Given the description of an element on the screen output the (x, y) to click on. 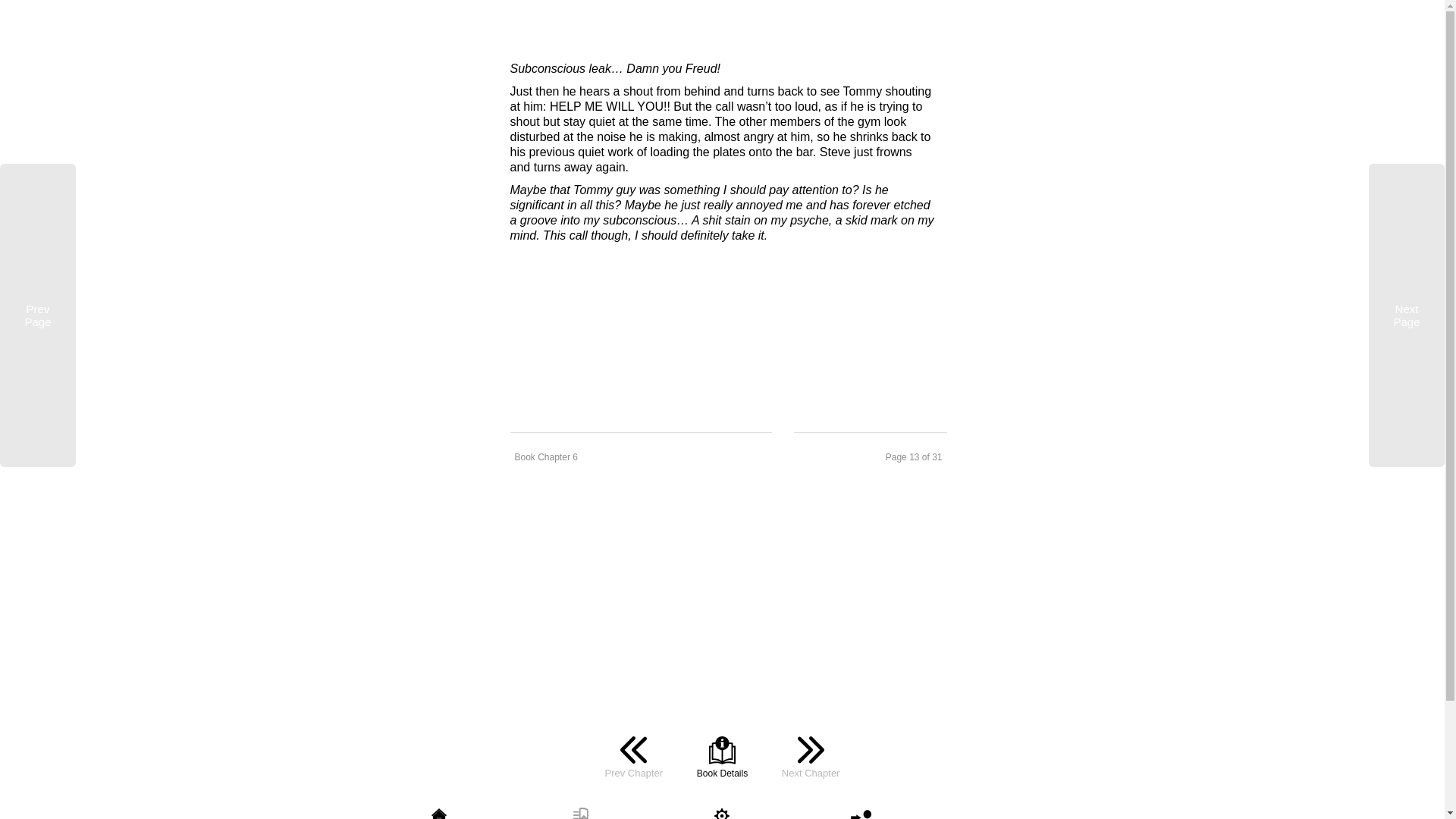
Book Chapter 6 (640, 456)
Page 13 of 31 (870, 456)
